Given the description of an element on the screen output the (x, y) to click on. 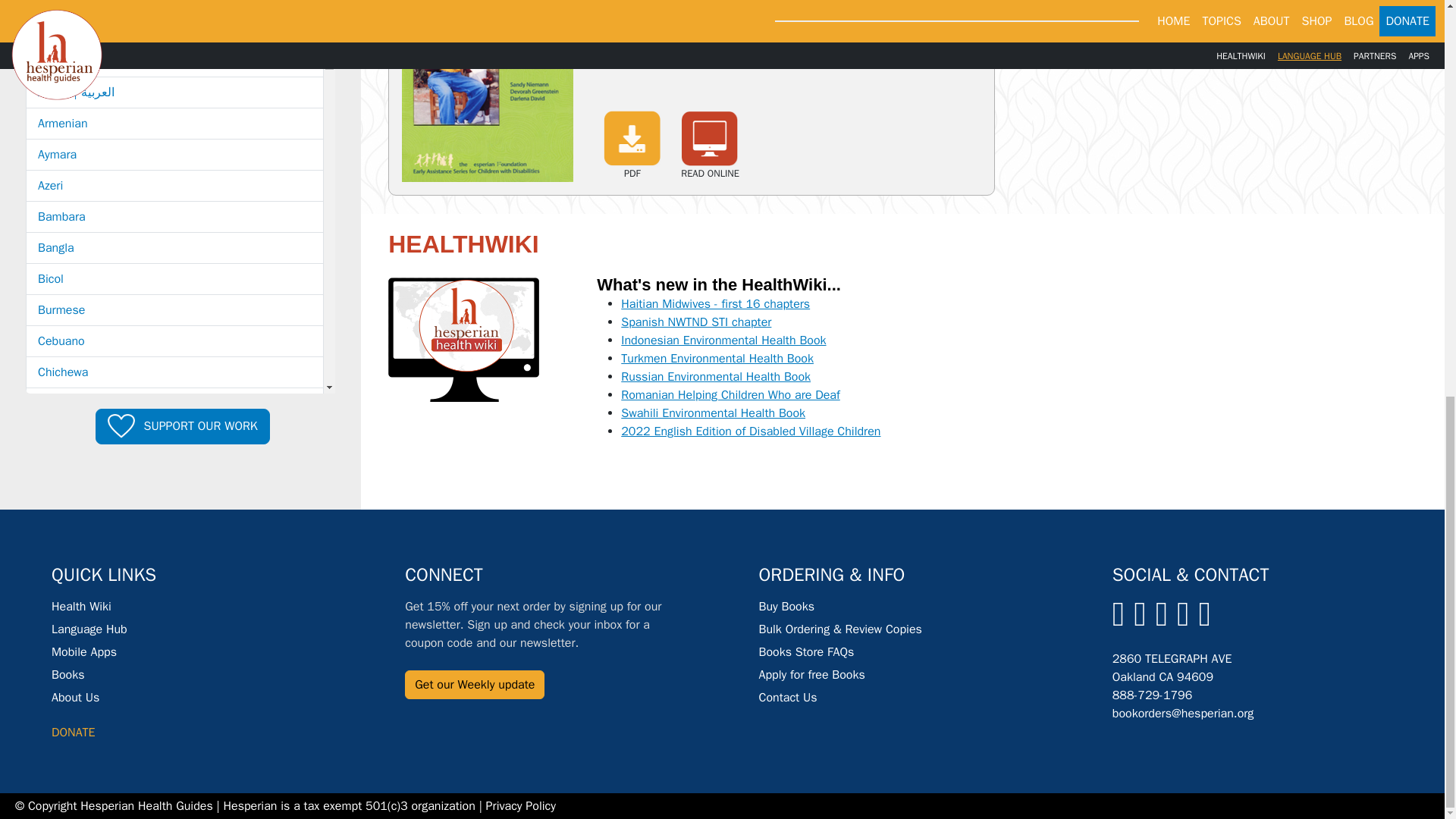
Croatian (174, 465)
Albanian (174, 30)
Chichewa (174, 372)
Filipino (174, 621)
Esperanto (174, 558)
Aymara (174, 154)
Bangla (174, 247)
Farsi (174, 589)
Cebuano (174, 340)
Bambara (174, 216)
